Given the description of an element on the screen output the (x, y) to click on. 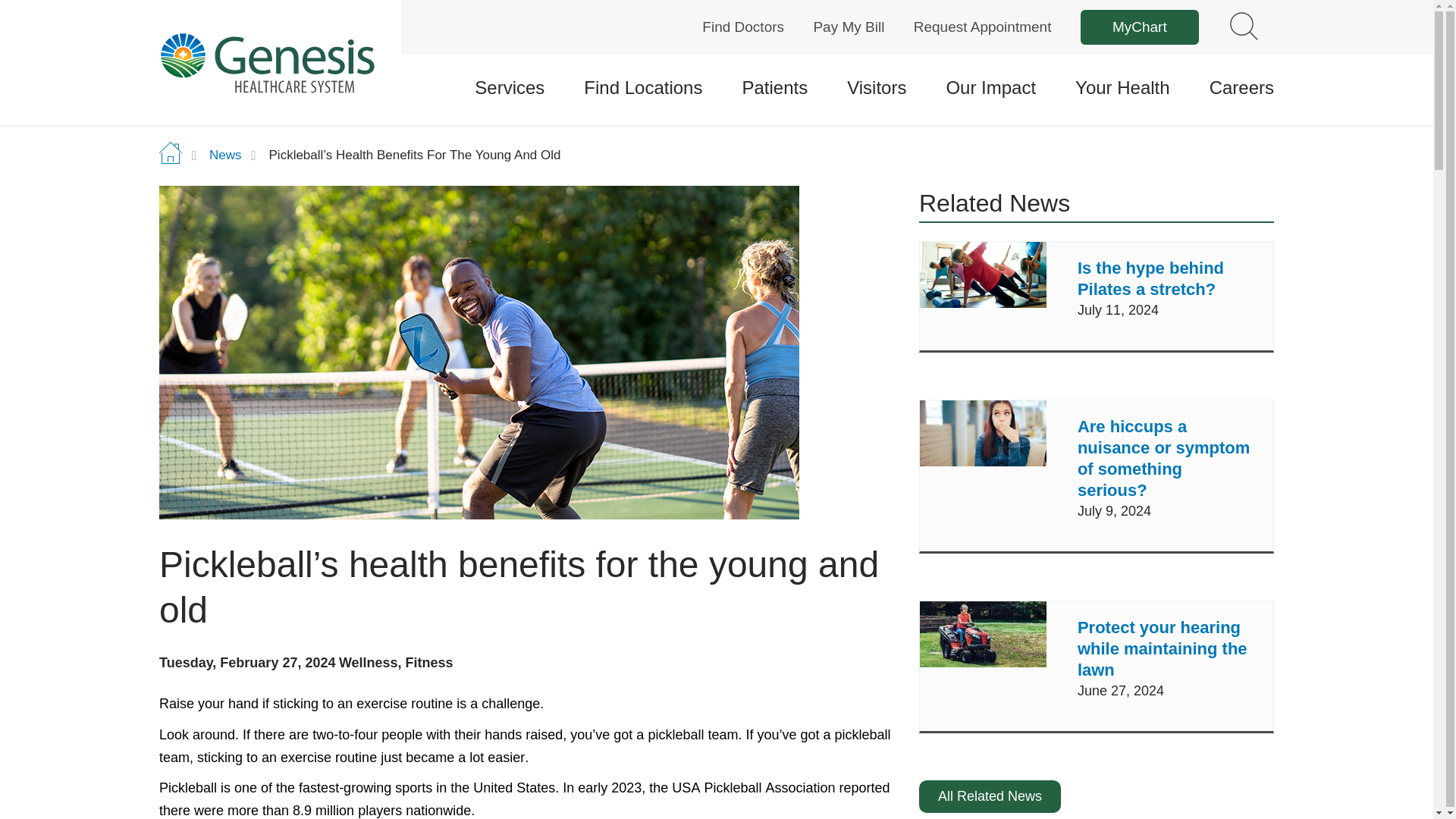
Pay My Bill (847, 26)
Request Appointment (982, 26)
Find Doctors (742, 26)
Services (509, 87)
Genesis Logo (266, 62)
Patients (774, 87)
Find Locations (642, 87)
MyChart (1139, 27)
Home (288, 62)
